Given the description of an element on the screen output the (x, y) to click on. 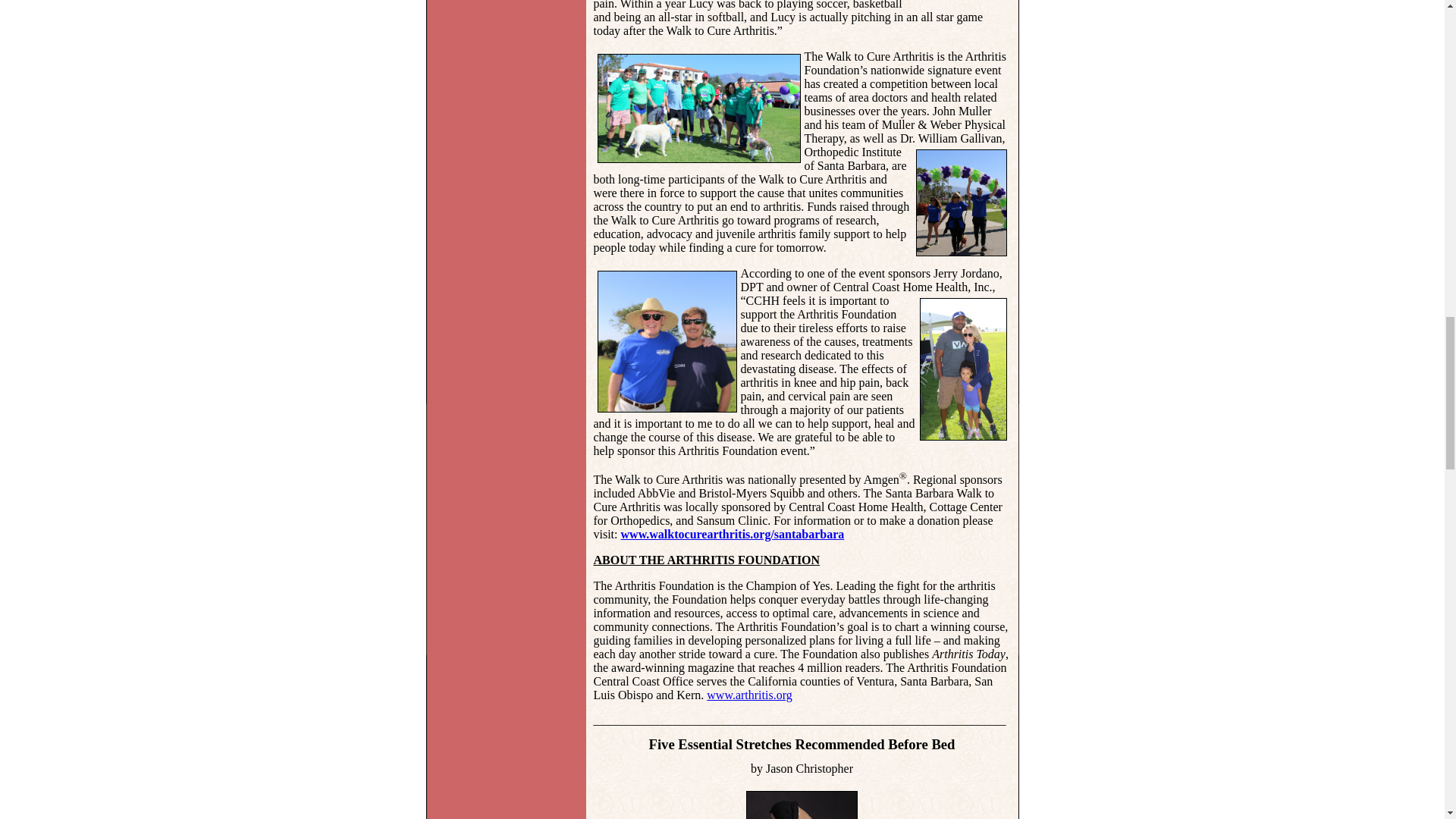
www.arthritis.org (749, 694)
